Given the description of an element on the screen output the (x, y) to click on. 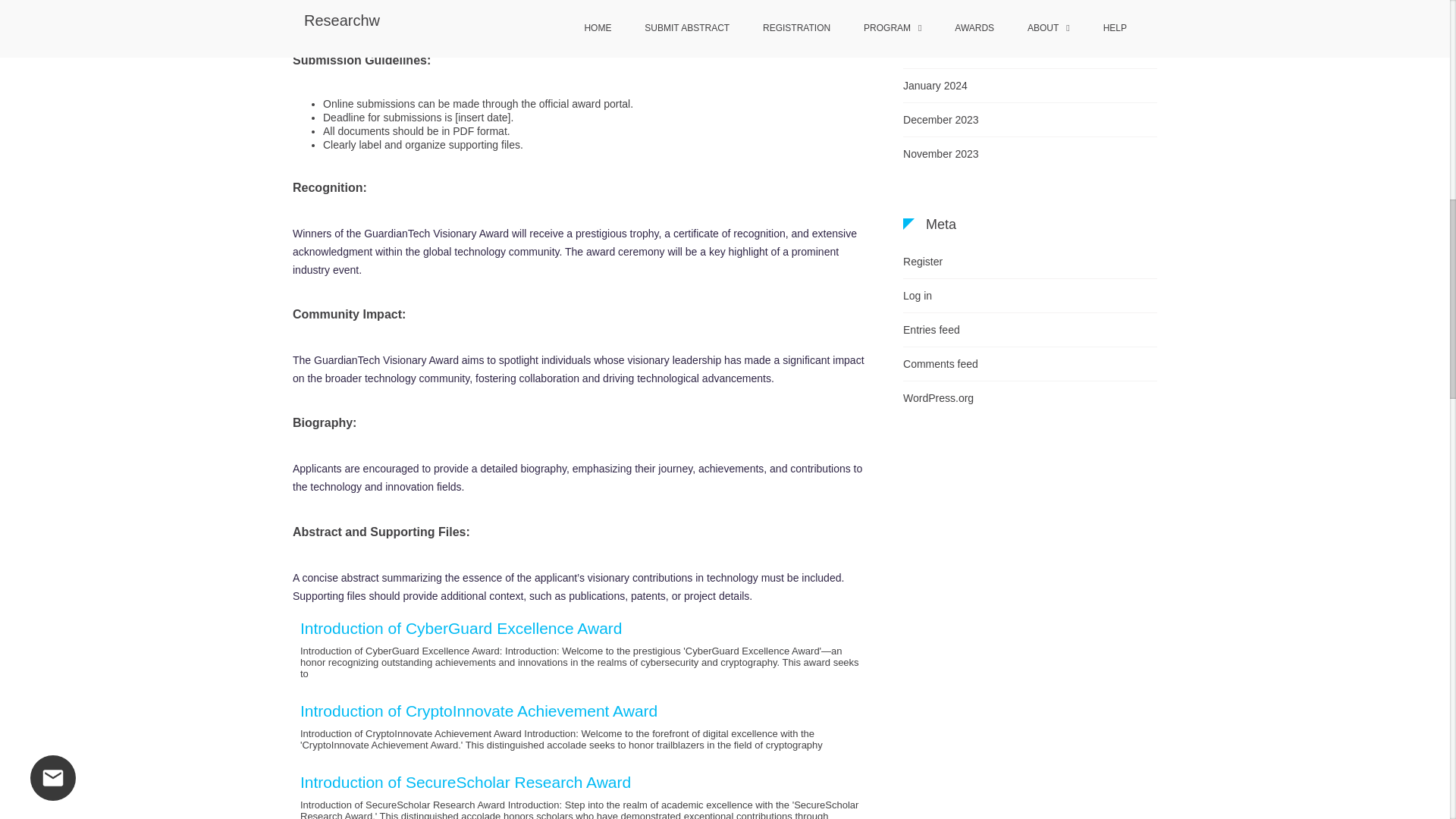
Introduction of CyberGuard Excellence Award (461, 628)
Introduction of CryptoInnovate Achievement Award (478, 710)
Introduction of SecureScholar Research Award (464, 782)
